Given the description of an element on the screen output the (x, y) to click on. 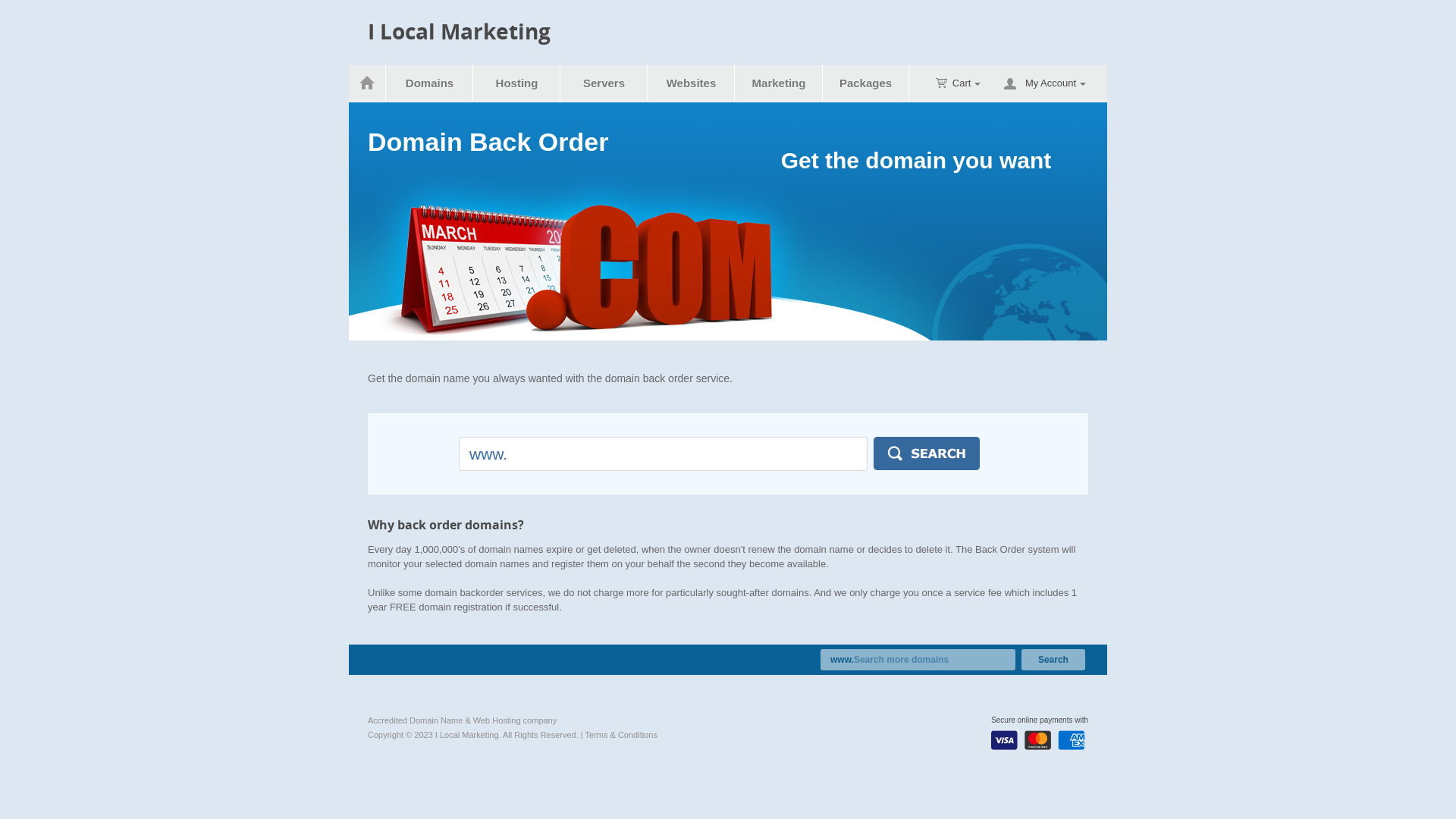
I Local Marketing Element type: text (458, 31)
Home Element type: text (366, 83)
Cart Element type: text (957, 82)
Search Element type: text (1053, 659)
Terms & Conditions Element type: text (621, 734)
My Account Element type: text (1055, 83)
Packages Element type: text (865, 83)
Hosting Element type: text (516, 83)
Servers Element type: text (604, 83)
Domains Element type: text (429, 83)
Websites Element type: text (691, 83)
Search Element type: text (926, 453)
Marketing Element type: text (778, 83)
